Given the description of an element on the screen output the (x, y) to click on. 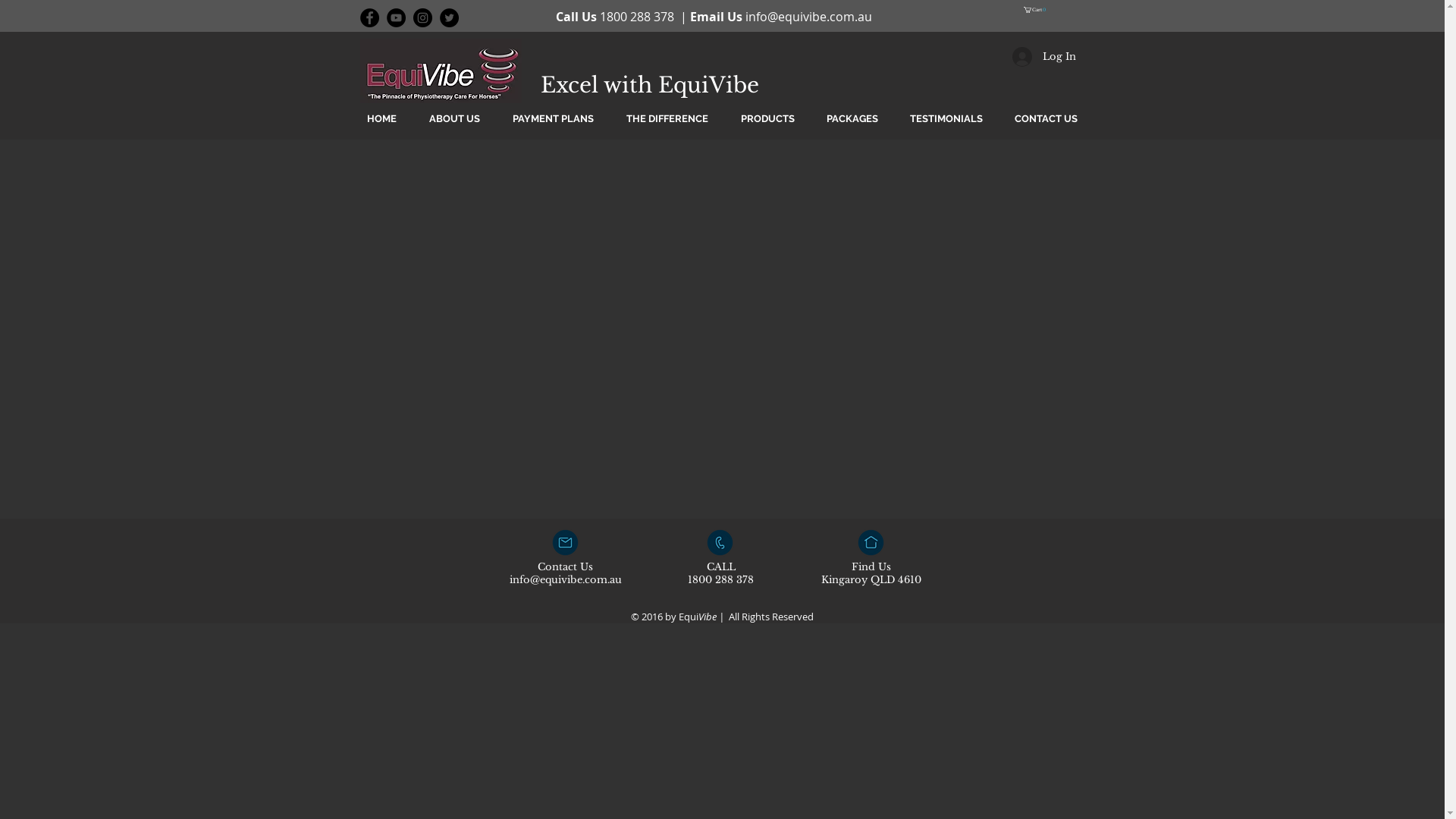
Cart
0 Element type: text (1035, 9)
Log In Element type: text (1043, 56)
PRODUCTS Element type: text (767, 118)
HOME Element type: text (381, 118)
TESTIMONIALS Element type: text (945, 118)
ABOUT US Element type: text (453, 118)
PAYMENT PLANS Element type: text (552, 118)
info@equivibe.com.au Element type: text (807, 16)
CONTACT US Element type: text (1044, 118)
EquiVibelogo.png Element type: hover (439, 70)
PACKAGES Element type: text (851, 118)
THE DIFFERENCE Element type: text (666, 118)
info@equivibe.com.au Element type: text (565, 579)
